Given the description of an element on the screen output the (x, y) to click on. 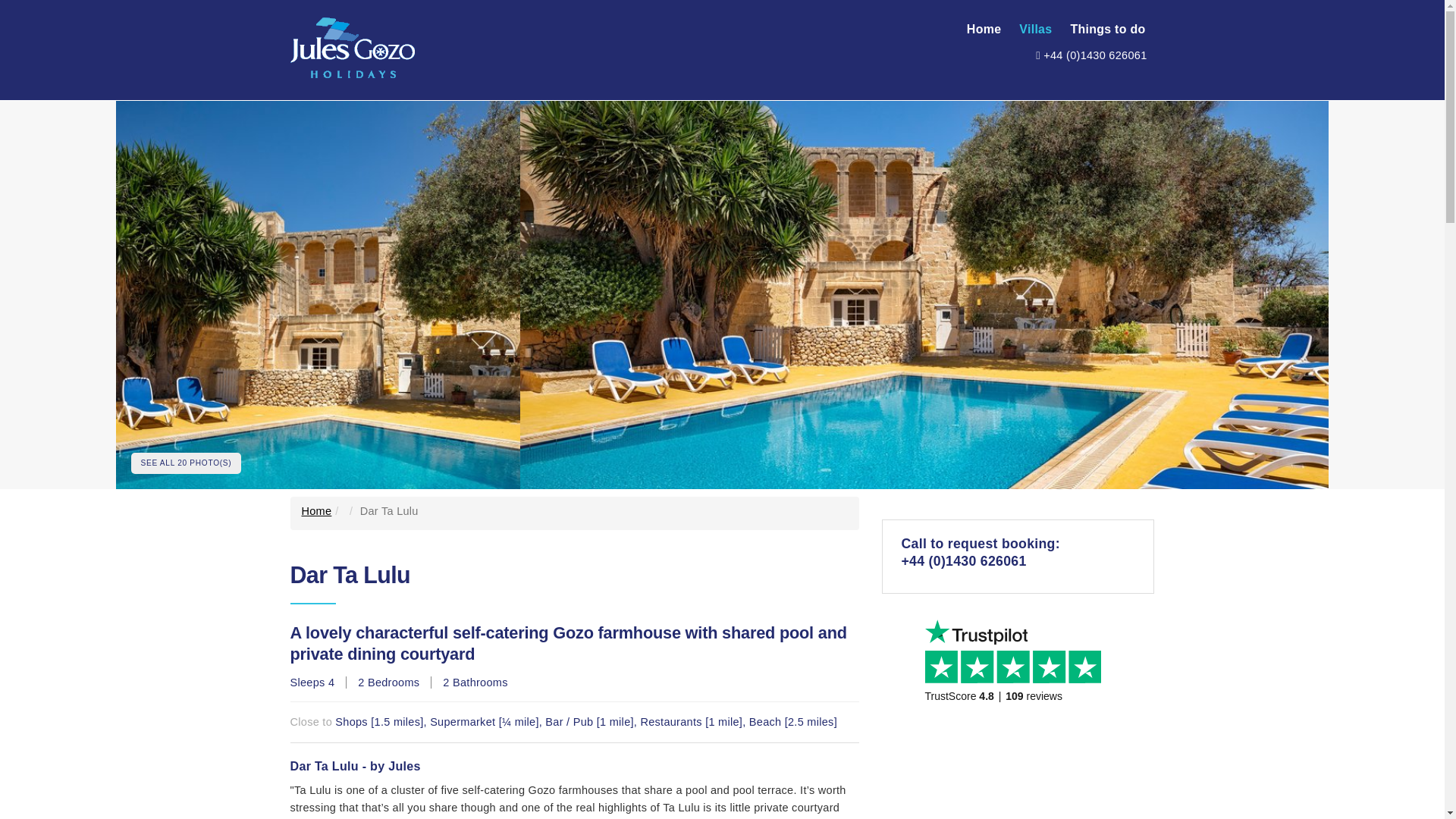
Home (984, 29)
Things to do (1107, 29)
Home (316, 510)
Villas (1035, 29)
